Given the description of an element on the screen output the (x, y) to click on. 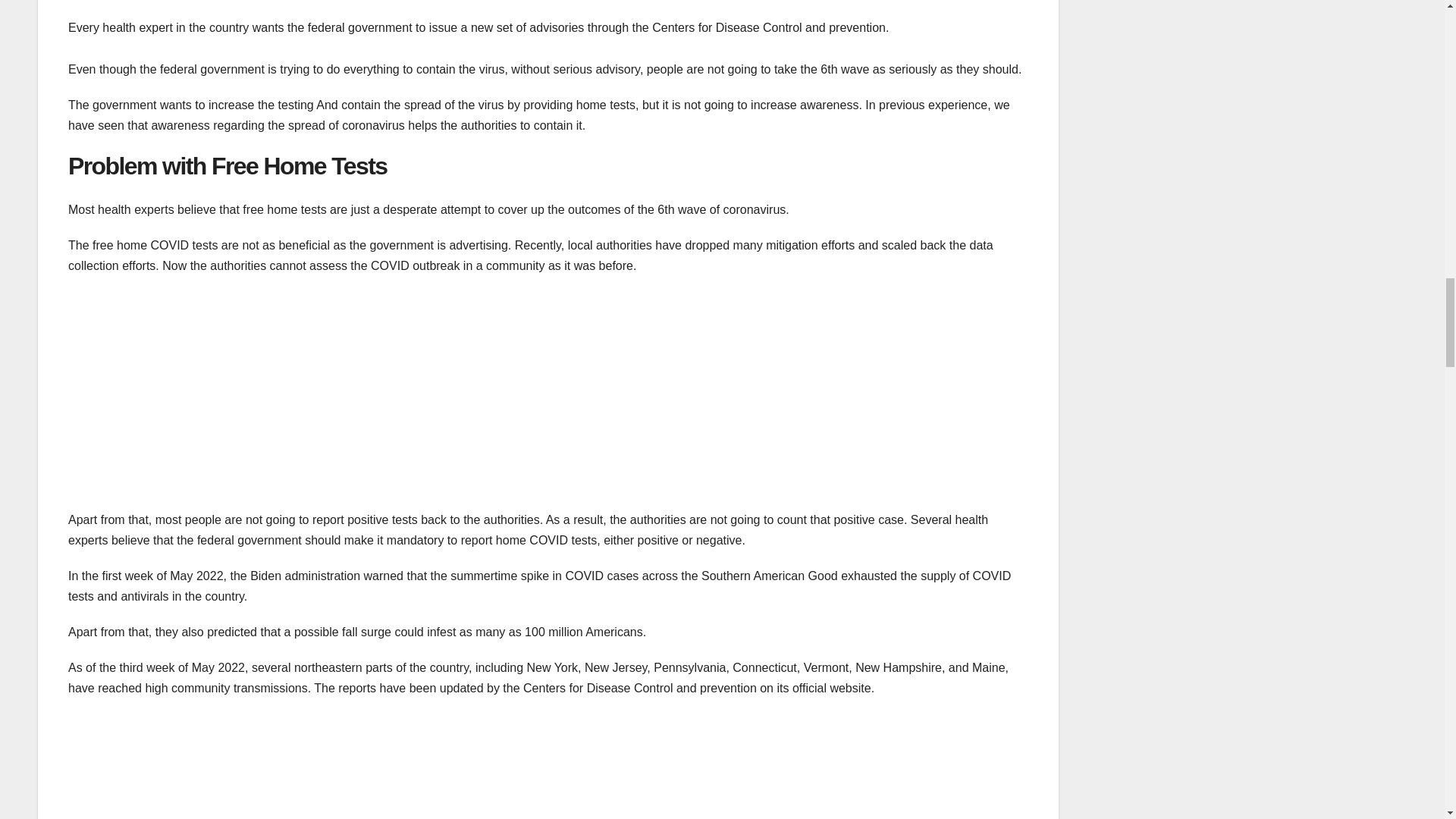
Advertisement (523, 766)
